Given the description of an element on the screen output the (x, y) to click on. 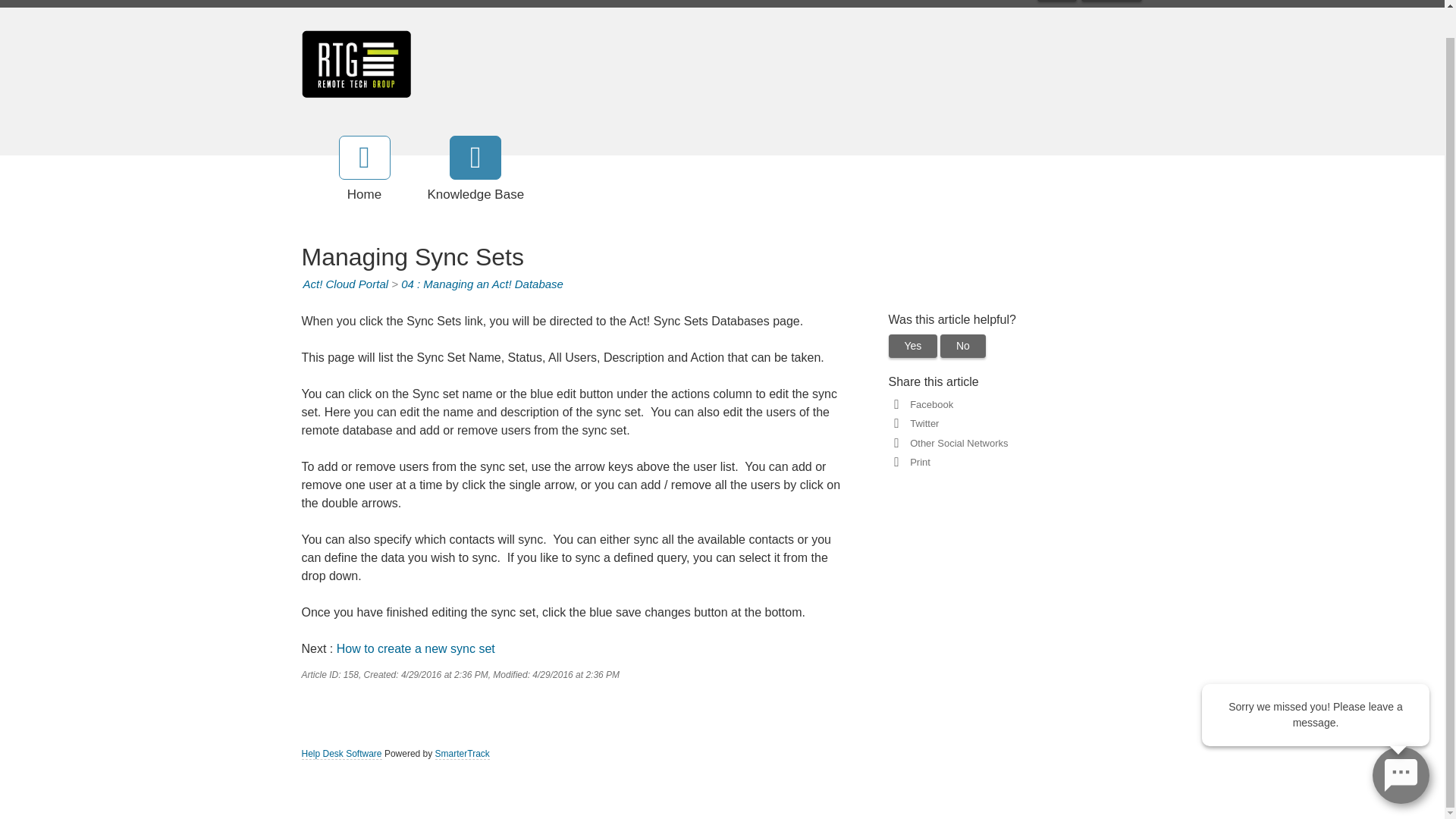
Yes (912, 345)
English (1111, 0)
Home (364, 169)
How to create a new sync set (415, 648)
Knowledge Base (476, 169)
RTG (356, 62)
Leave us a message! (1401, 746)
No (962, 345)
Login (1056, 0)
Act! Cloud Portal (345, 283)
04 : Managing an Act! Database (482, 283)
